Given the description of an element on the screen output the (x, y) to click on. 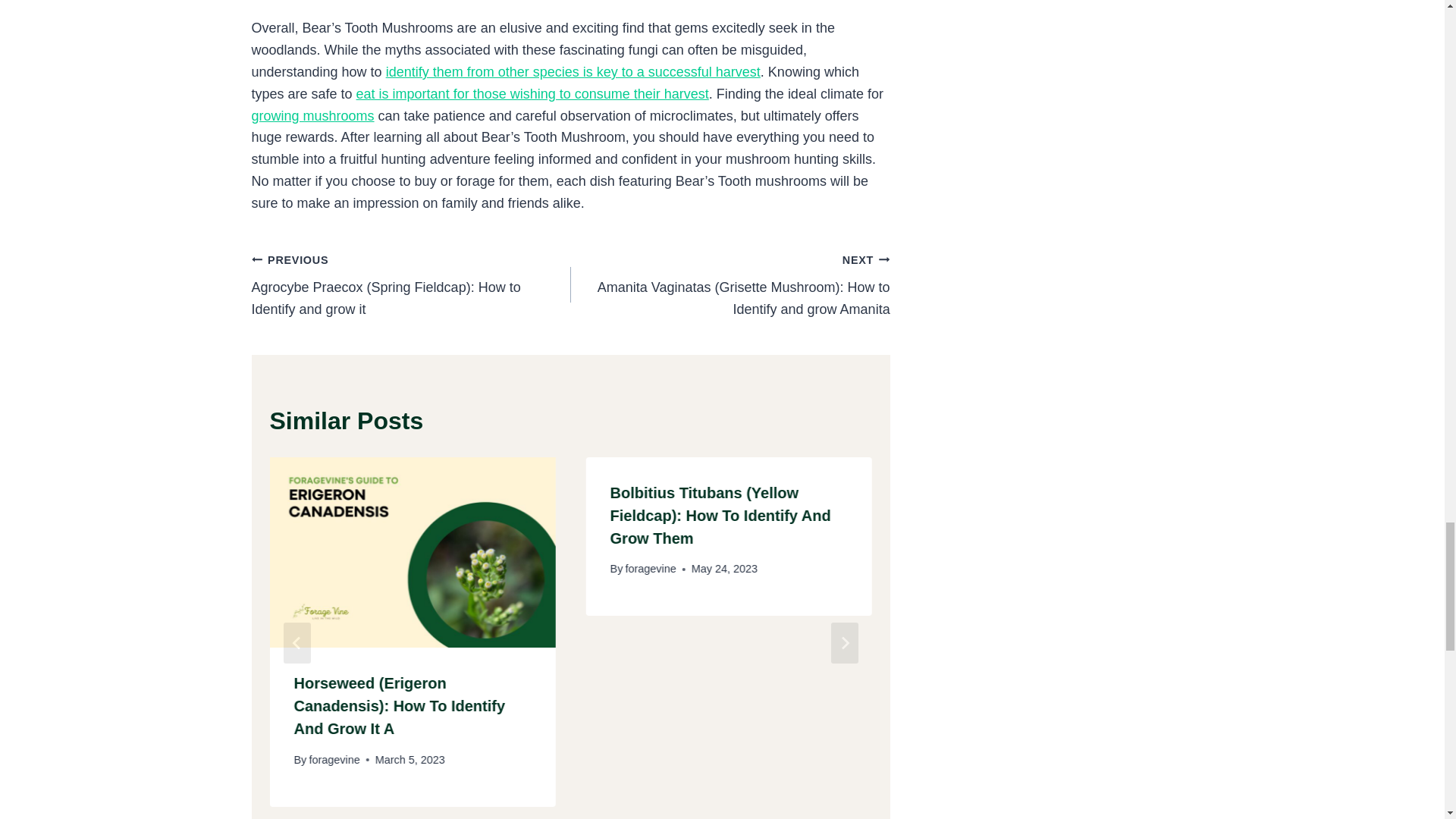
growing mushrooms (312, 115)
eat is important for those wishing to consume their harvest (532, 93)
